Given the description of an element on the screen output the (x, y) to click on. 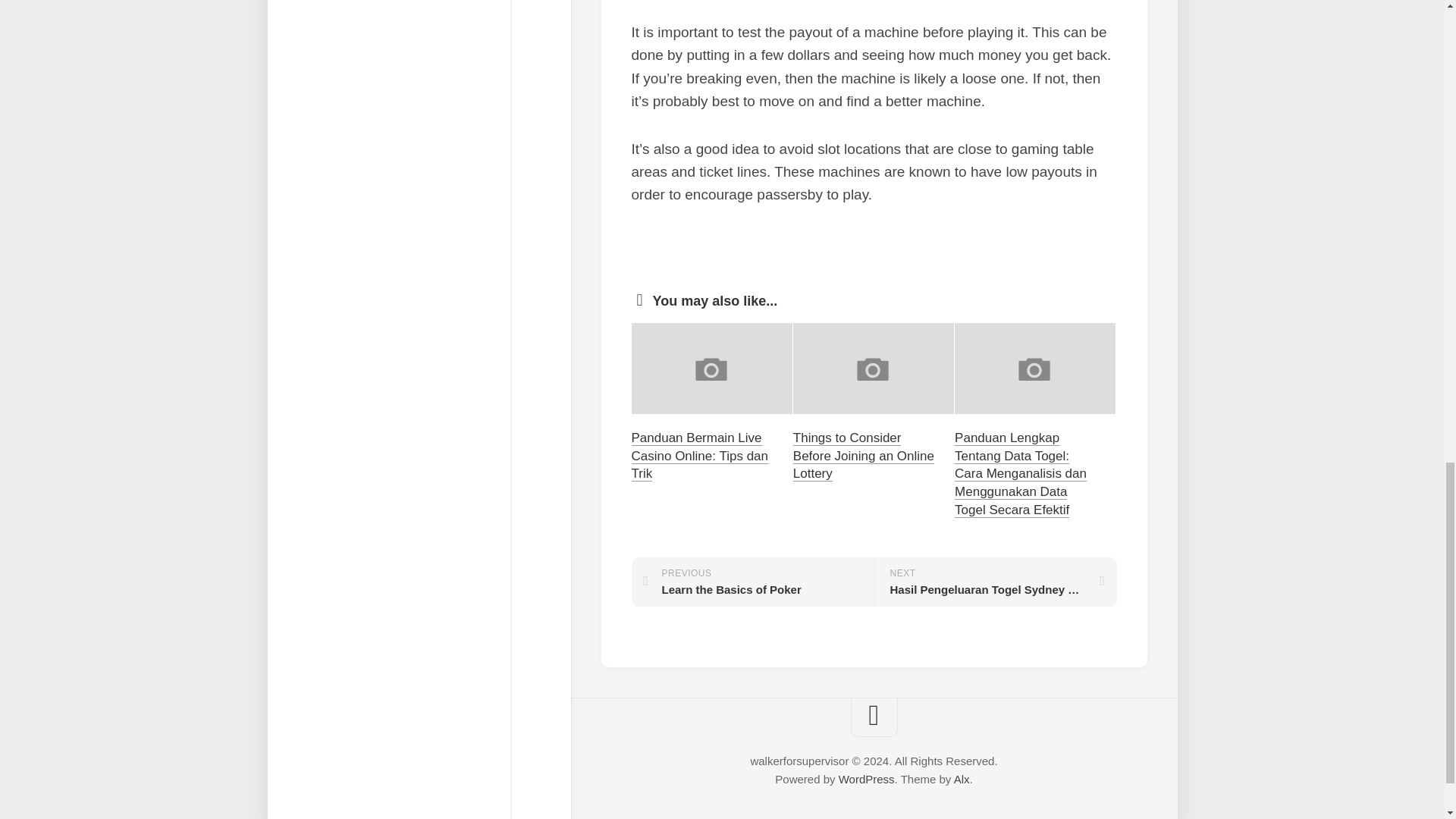
WordPress (866, 779)
Things to Consider Before Joining an Online Lottery (863, 455)
Panduan Bermain Live Casino Online: Tips dan Trik (699, 455)
Alx (961, 779)
